Given the description of an element on the screen output the (x, y) to click on. 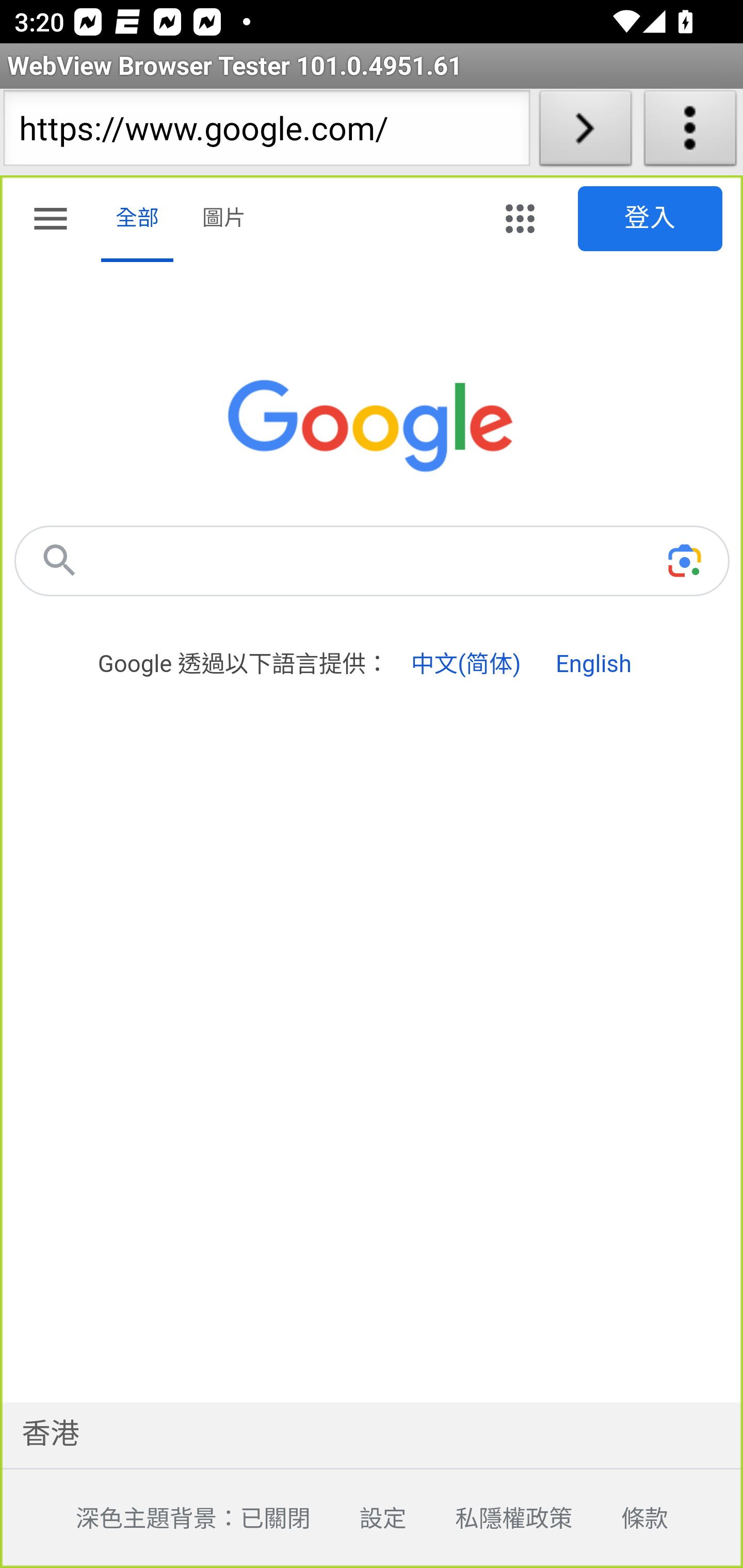
https://www.google.com/ (266, 132)
Load URL (585, 132)
About WebView (690, 132)
主選單 (51, 222)
圖片 (224, 219)
Google 應用程式 (519, 218)
登入 (650, 218)
Google 搜尋 (59, 560)
使用相機或相片搜尋 (683, 560)
中文(简体) (465, 663)
English (593, 663)
深色主題背景：已關閉 (168, 1519)
設定 (357, 1519)
私隱權政策 (489, 1519)
條款 (619, 1519)
廣告 (250, 1567)
企業 (347, 1567)
關於 (442, 1567)
